Given the description of an element on the screen output the (x, y) to click on. 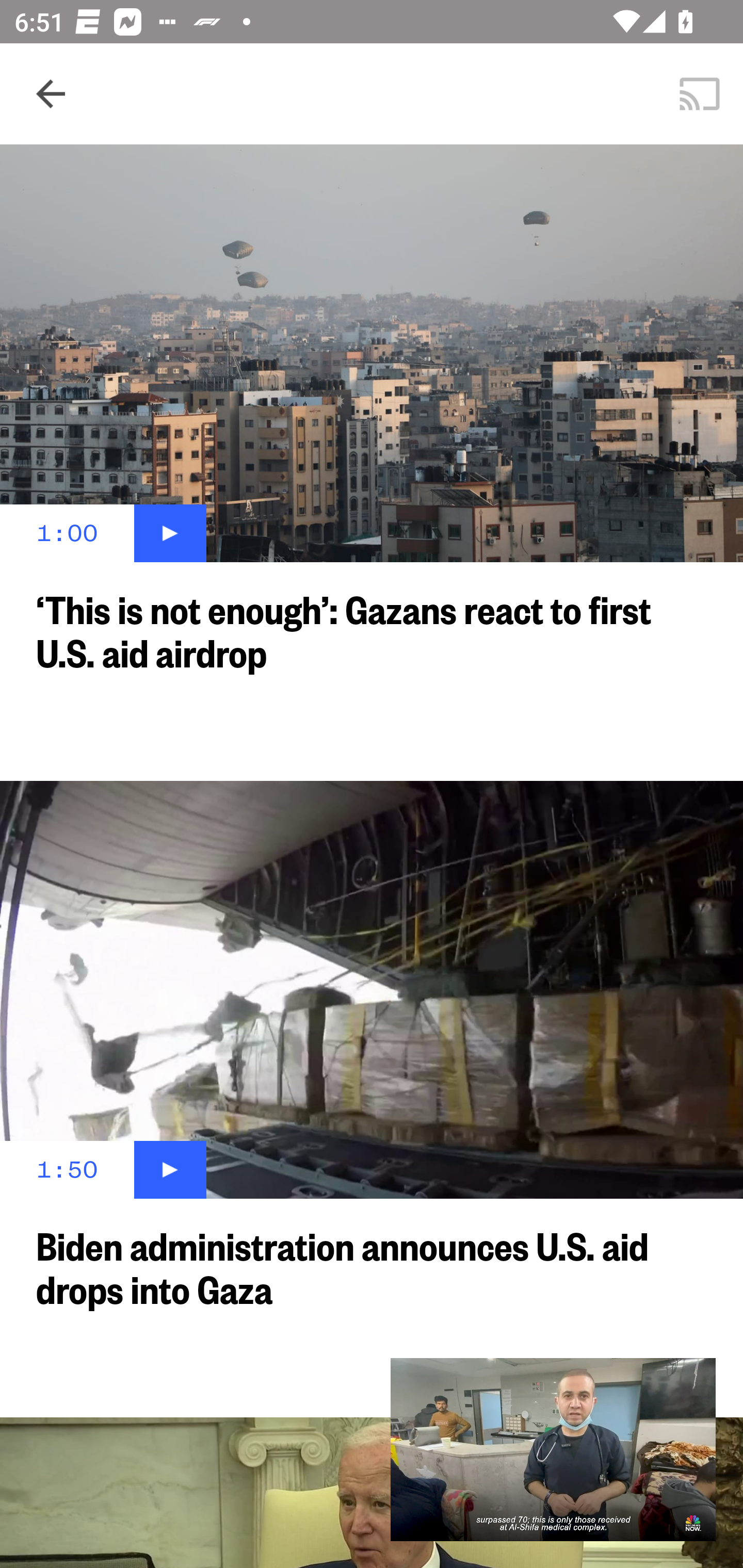
Navigate up (50, 93)
Cast. Disconnected (699, 93)
